Given the description of an element on the screen output the (x, y) to click on. 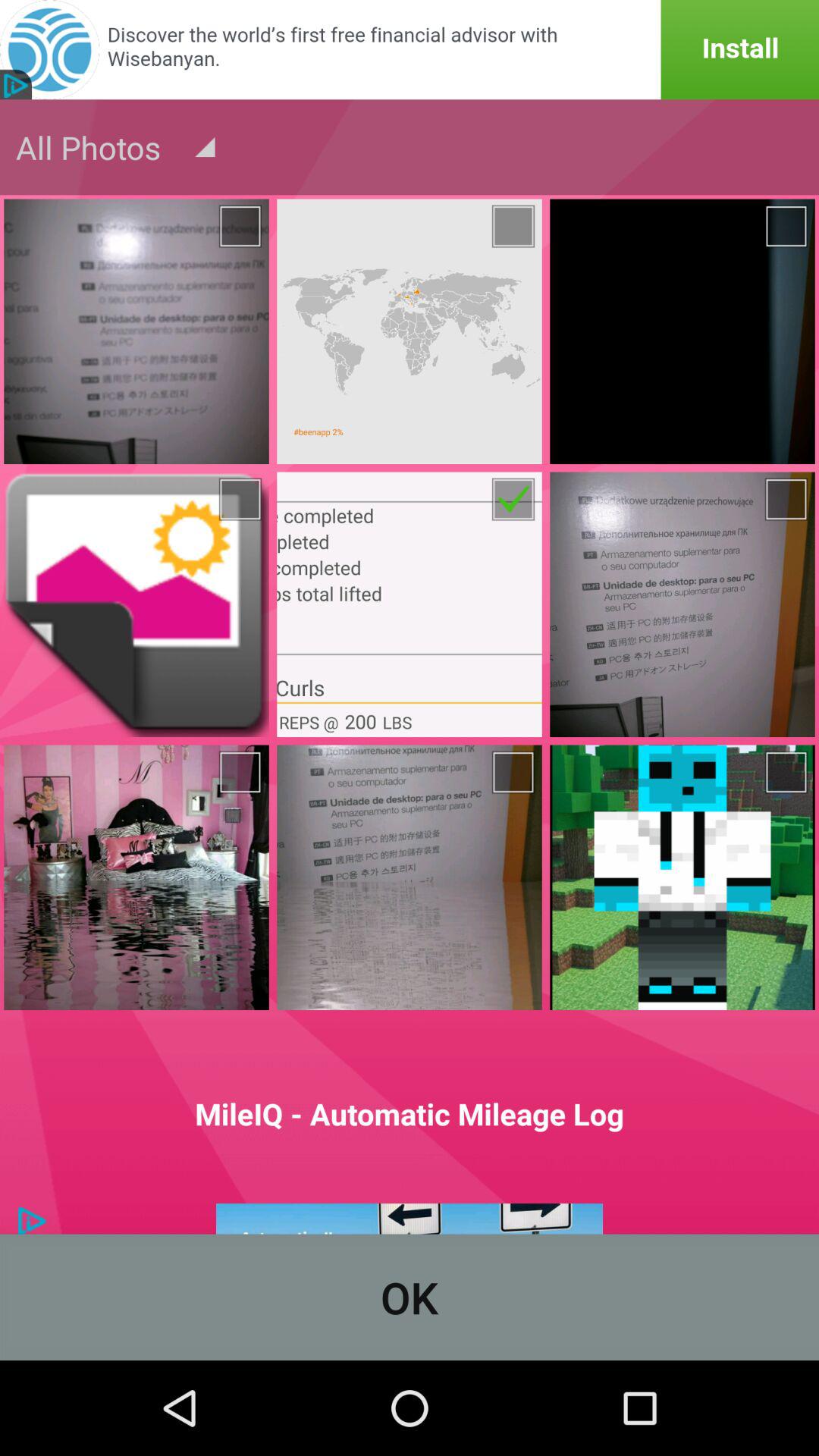
open advertisement (409, 49)
